Given the description of an element on the screen output the (x, y) to click on. 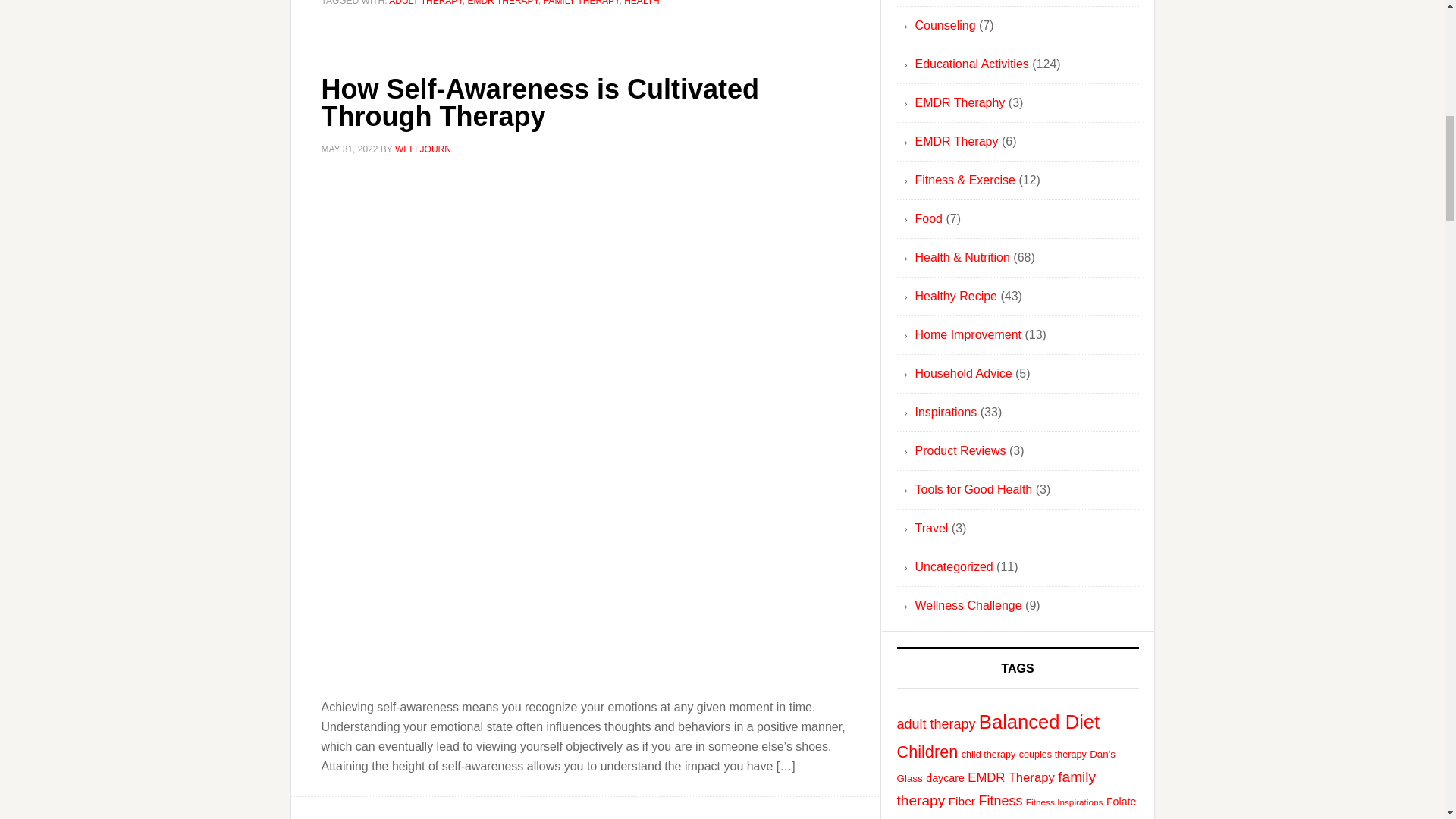
FAMILY THERAPY (581, 2)
EMDR THERAPY (502, 2)
How Self-Awareness is Cultivated Through Therapy (540, 102)
HEALTH (641, 2)
WELLJOURN (422, 149)
ADULT THERAPY (424, 2)
